Given the description of an element on the screen output the (x, y) to click on. 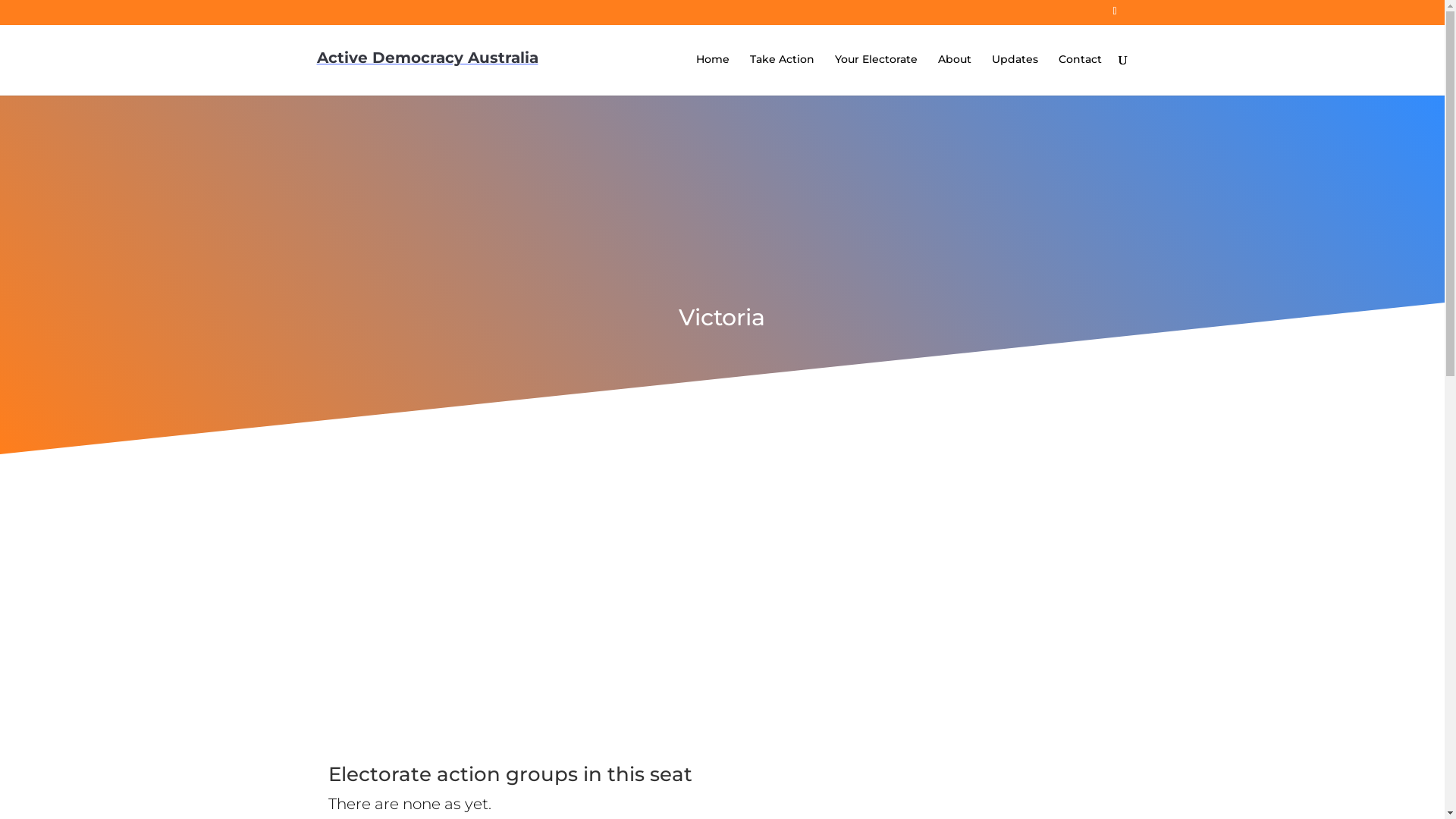
Your Electorate Element type: text (875, 74)
Contact Element type: text (1079, 74)
About Element type: text (953, 74)
Updates Element type: text (1014, 74)
Take Action Element type: text (781, 74)
Home Element type: text (712, 74)
Active Democracy Australia Element type: text (427, 58)
